Given the description of an element on the screen output the (x, y) to click on. 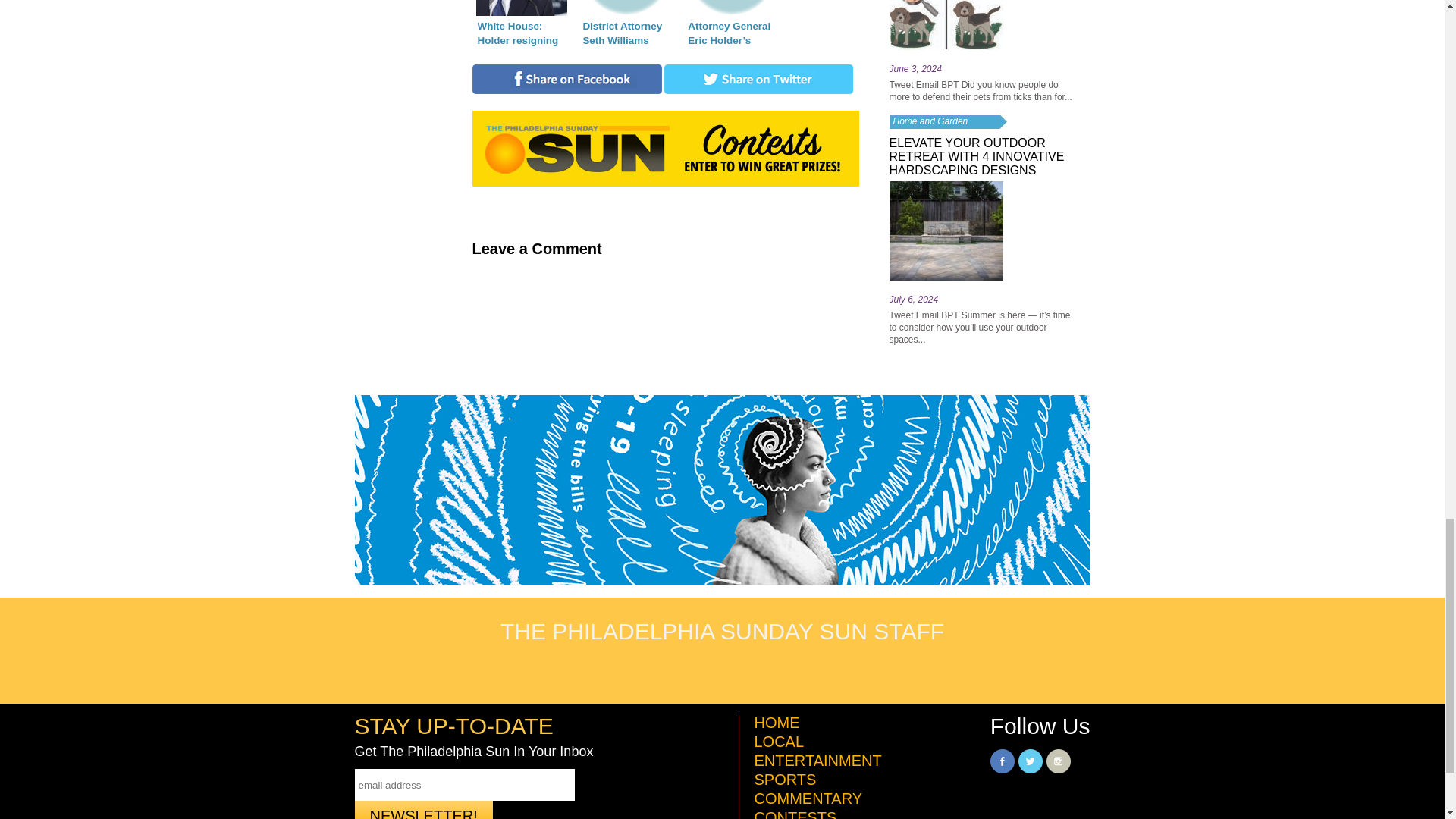
White House: Holder resigning as attorney general (520, 24)
White House: Holder resigning as attorney general (520, 24)
Newsletter! (424, 809)
